Given the description of an element on the screen output the (x, y) to click on. 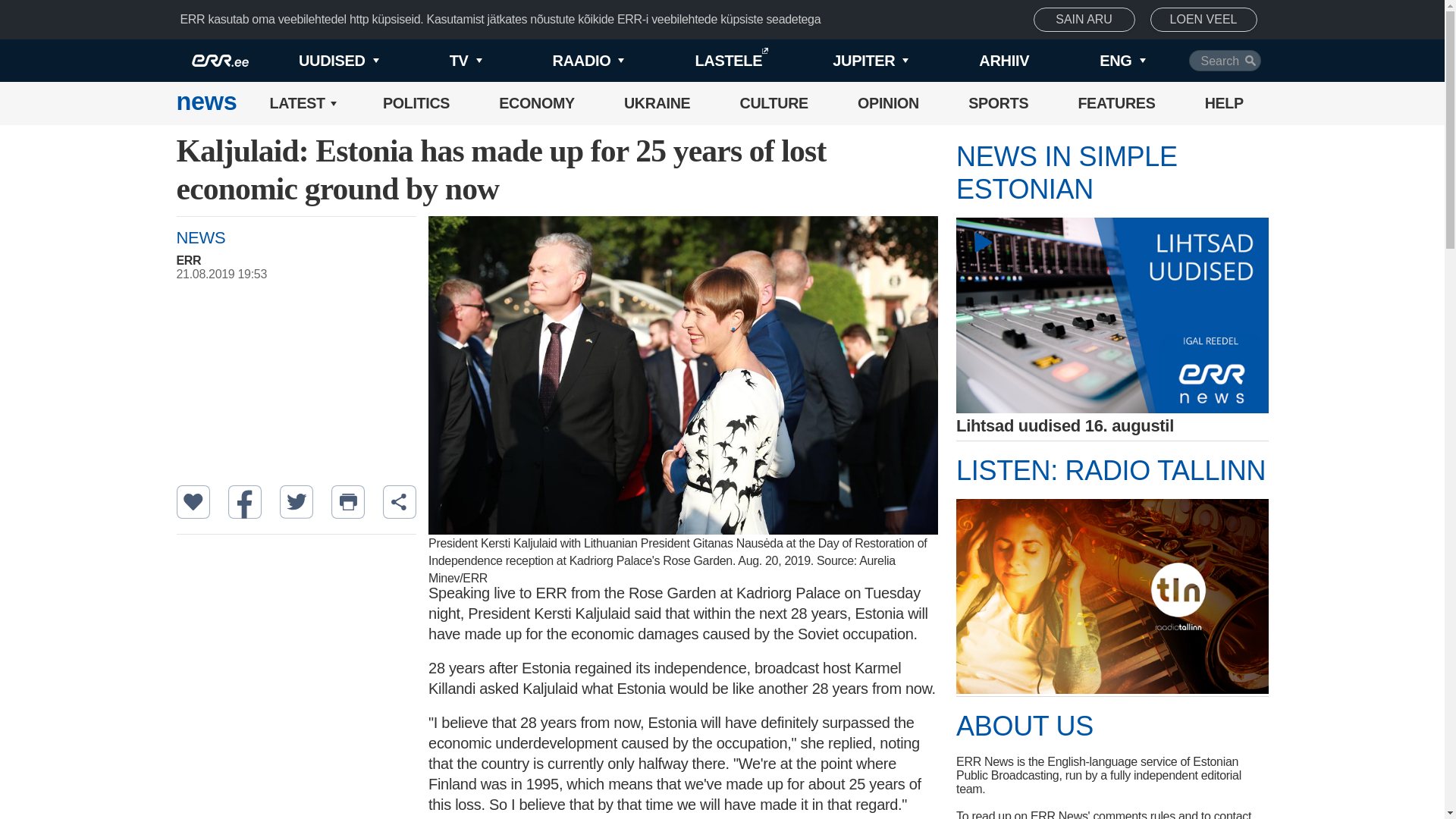
21.08.2019 19:53 (302, 274)
LOEN VEEL (1203, 19)
UUDISED (314, 60)
SAIN ARU (1084, 19)
RAADIO (563, 60)
Avalehele (205, 103)
TV (440, 60)
